Given the description of an element on the screen output the (x, y) to click on. 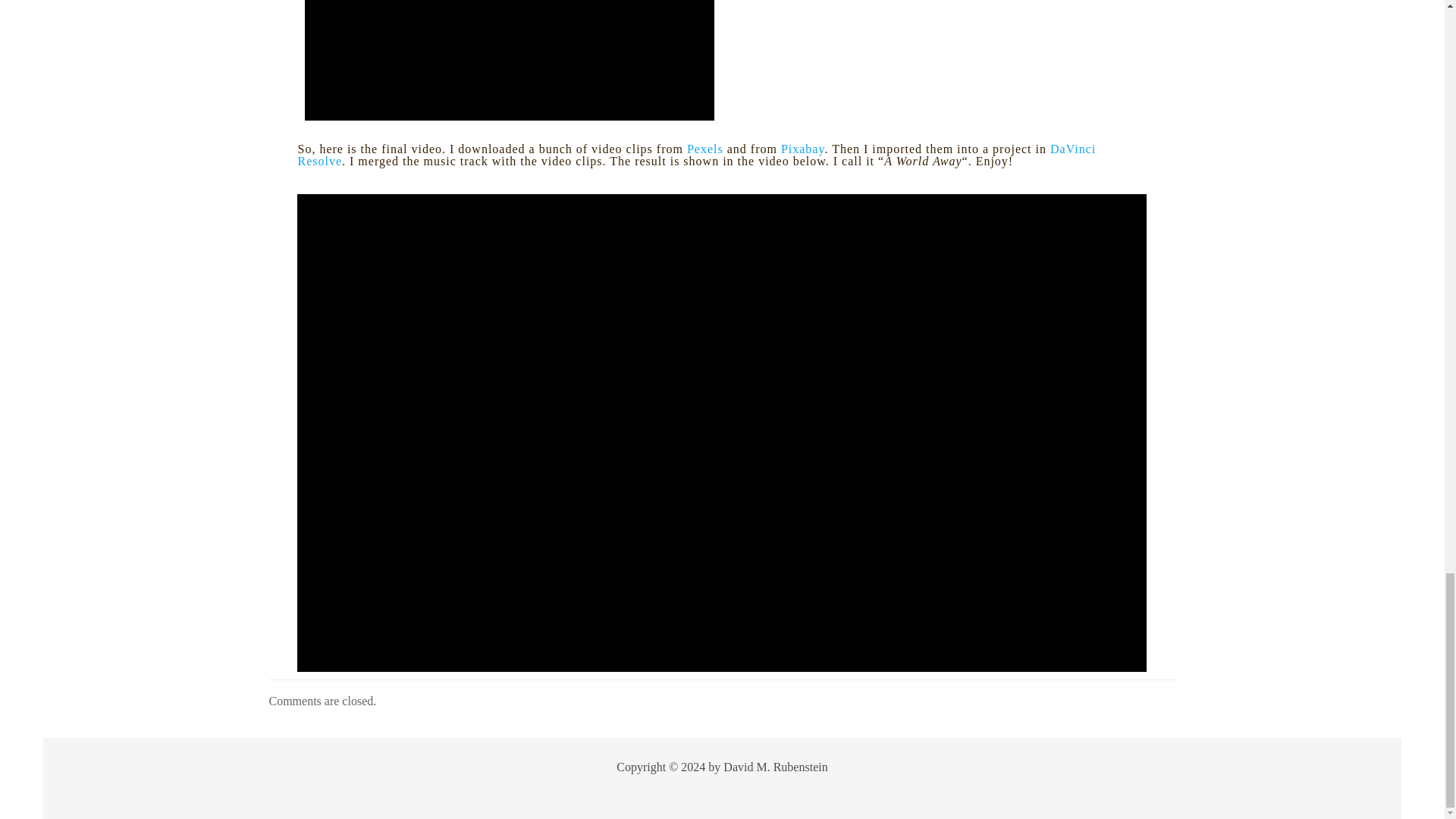
vimeo Video Player (509, 60)
DaVinci Resolve (696, 154)
Pexels (705, 148)
Pixabay (802, 148)
